Given the description of an element on the screen output the (x, y) to click on. 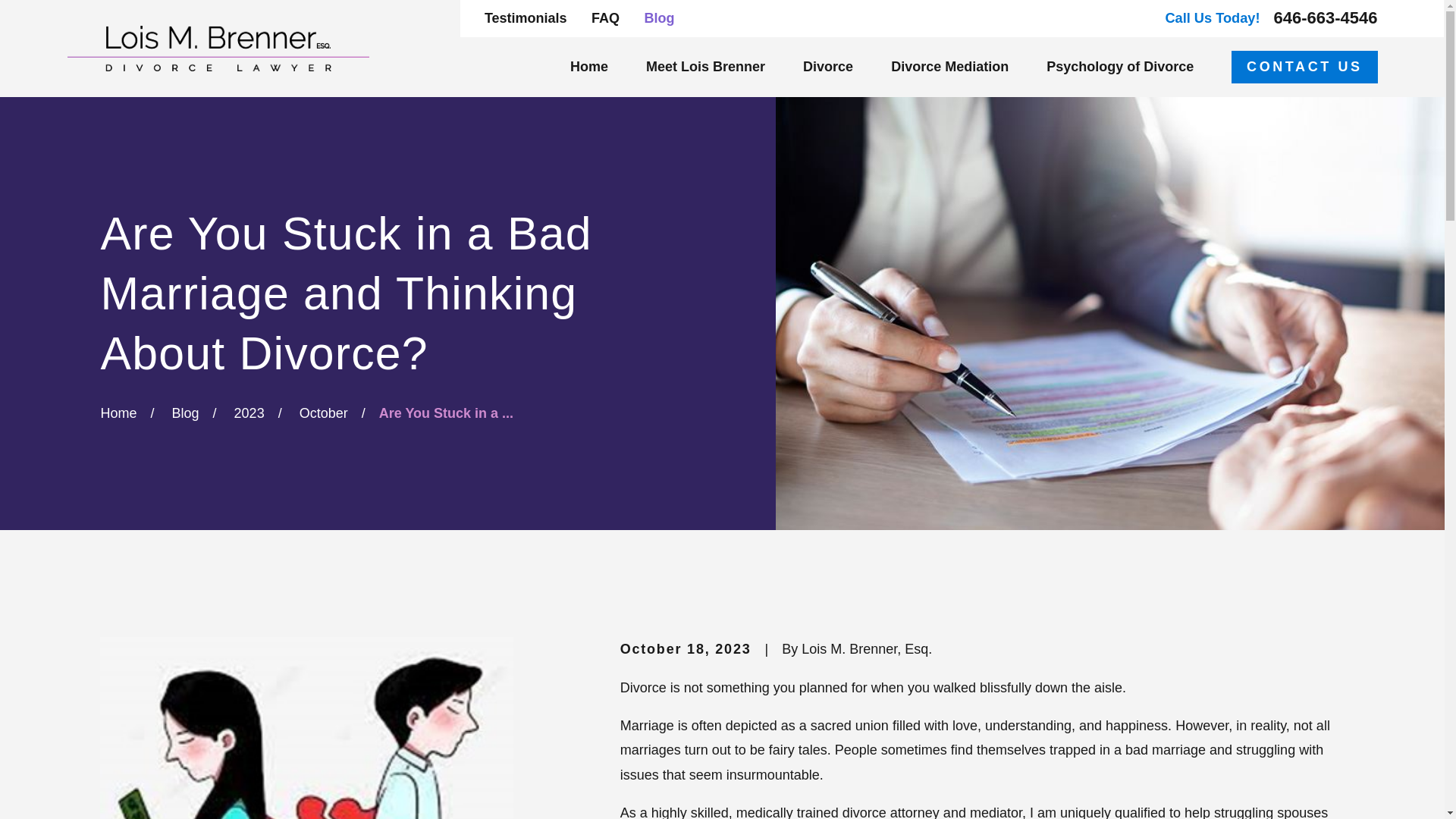
Home (589, 66)
FAQ (605, 17)
Home (217, 48)
Testimonials (525, 17)
646-663-4546 (1325, 17)
Psychology of Divorce (1119, 66)
Go Home (118, 412)
Divorce (828, 66)
Divorce Mediation (950, 66)
Meet Lois Brenner (705, 66)
